Given the description of an element on the screen output the (x, y) to click on. 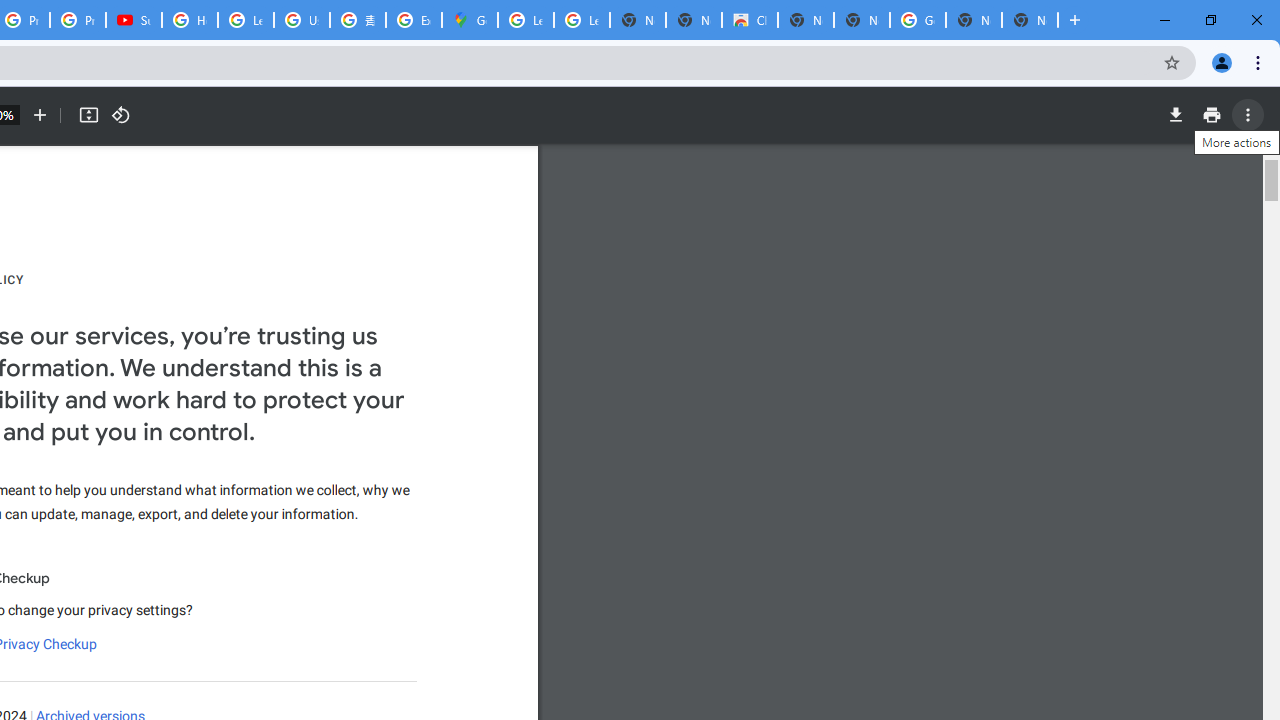
Chrome Web Store (749, 20)
Download (1175, 115)
Rotate counterclockwise (119, 115)
Explore new street-level details - Google Maps Help (413, 20)
More actions (1247, 115)
Google Maps (469, 20)
